Given the description of an element on the screen output the (x, y) to click on. 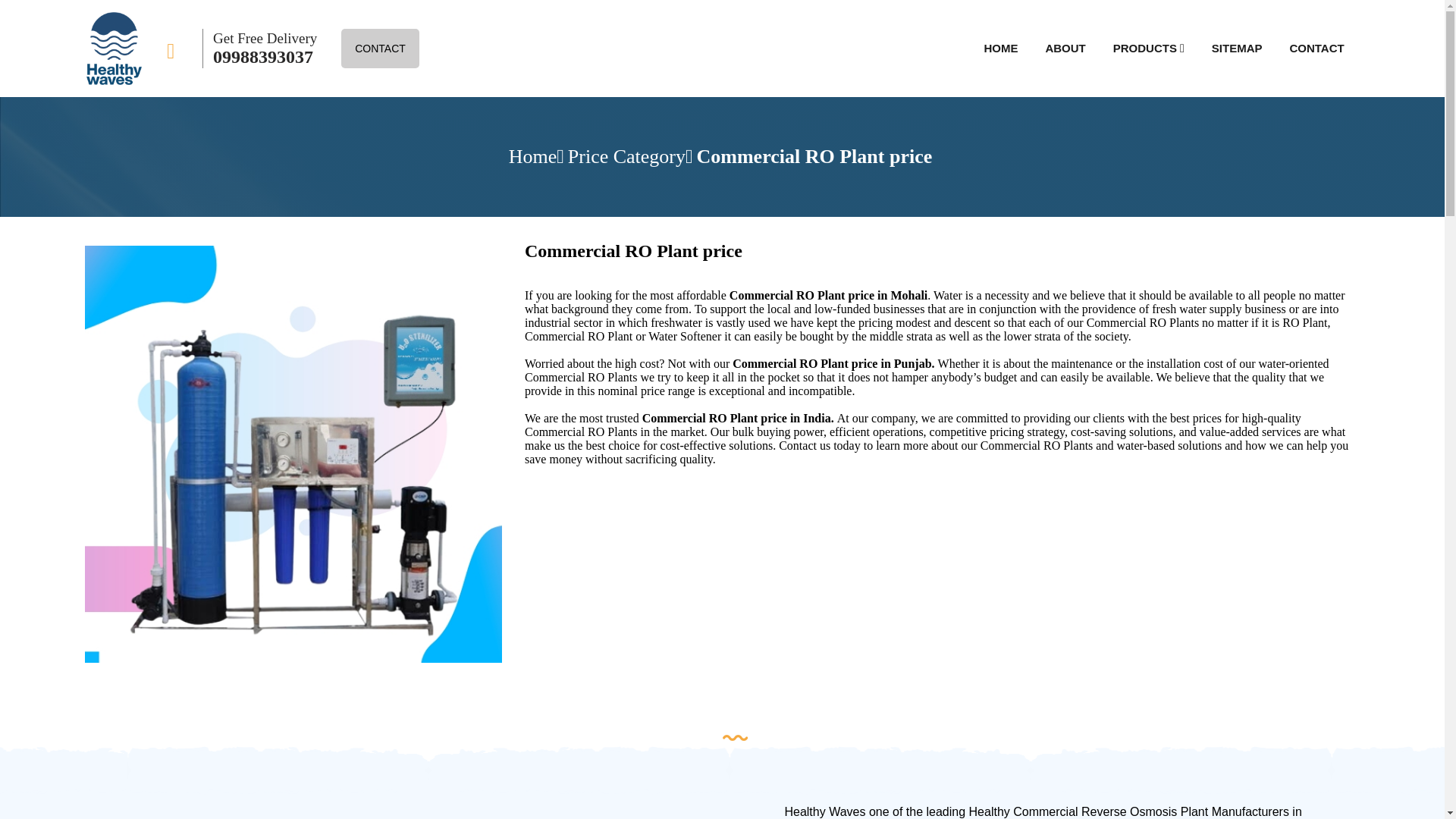
HOME (1000, 47)
SITEMAP (1236, 47)
PRODUCTS (1144, 47)
CONTACT (379, 47)
ABOUT (1064, 47)
Home (536, 156)
09988393037 (262, 56)
CONTACT (1315, 47)
